Given the description of an element on the screen output the (x, y) to click on. 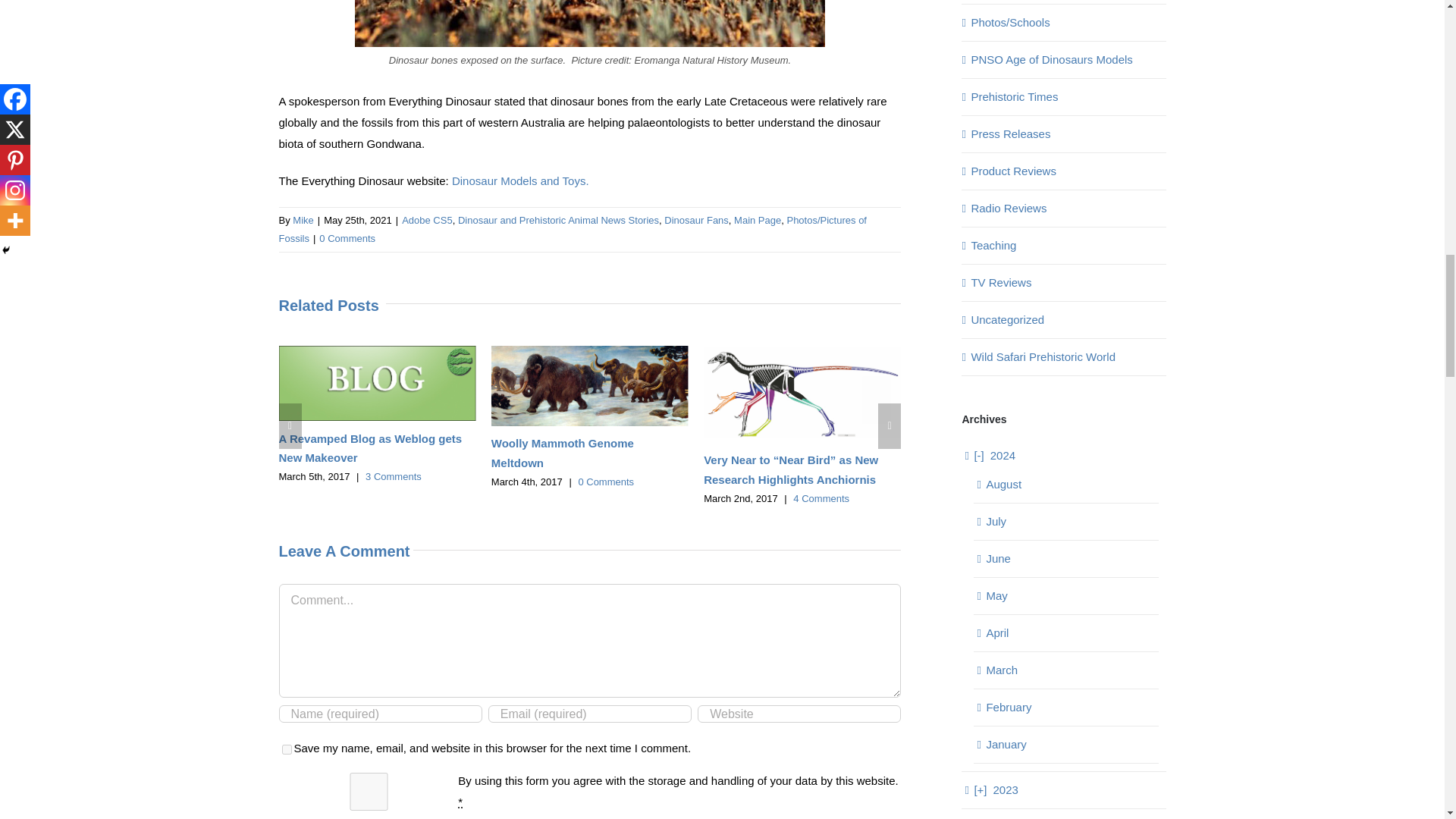
Adobe CS5 (426, 220)
Mike (302, 220)
0 Comments (346, 238)
Posts by Mike (302, 220)
yes (287, 749)
Dinosaur Models and Toys. (520, 180)
Main Page (756, 220)
Dinosaur Fans (696, 220)
Dinosaur Models and Toys. (520, 180)
Dinosaur and Prehistoric Animal News Stories (558, 220)
